Given the description of an element on the screen output the (x, y) to click on. 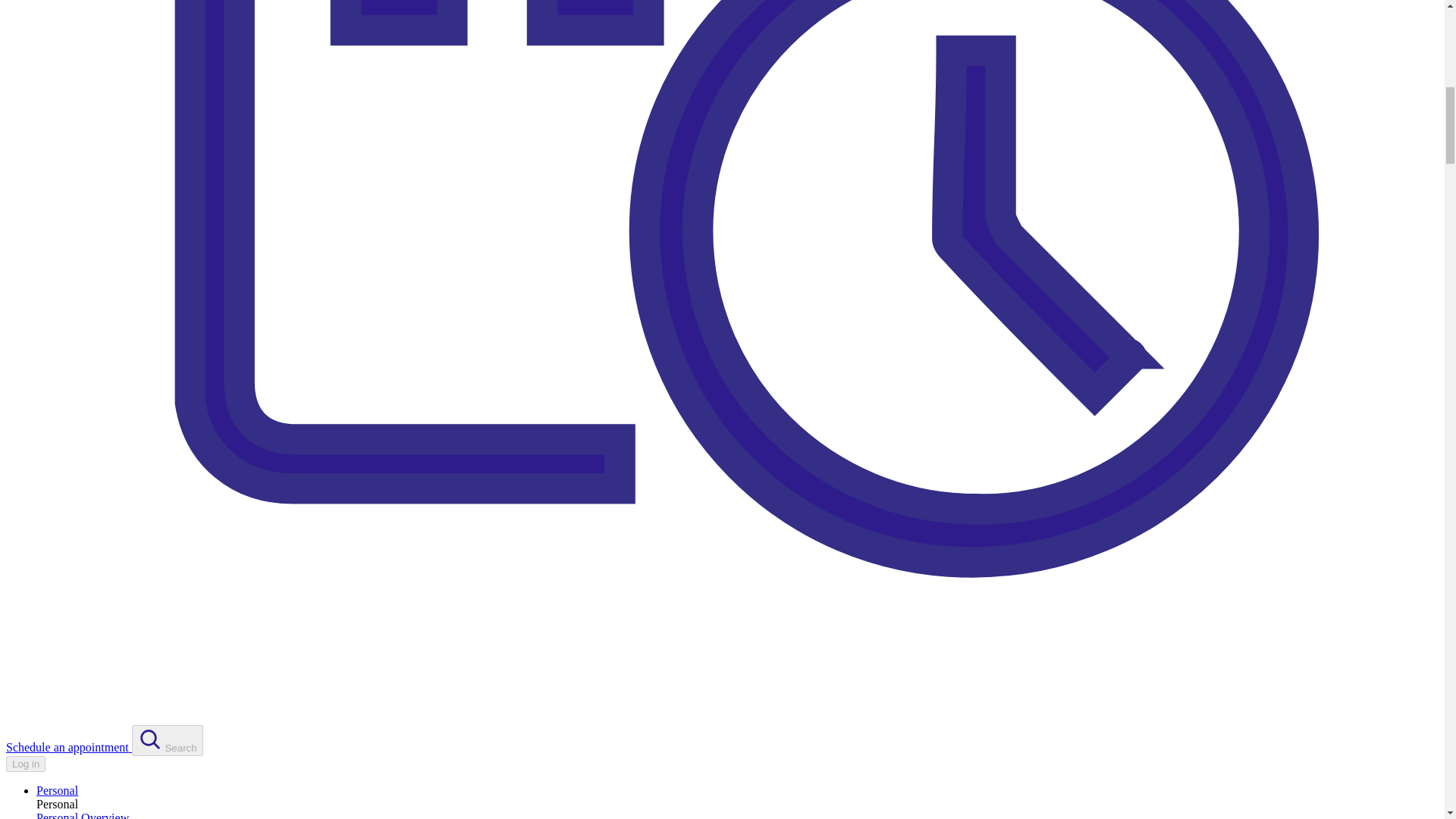
Log in (25, 763)
Personal (57, 789)
Personal Overview (82, 815)
